Given the description of an element on the screen output the (x, y) to click on. 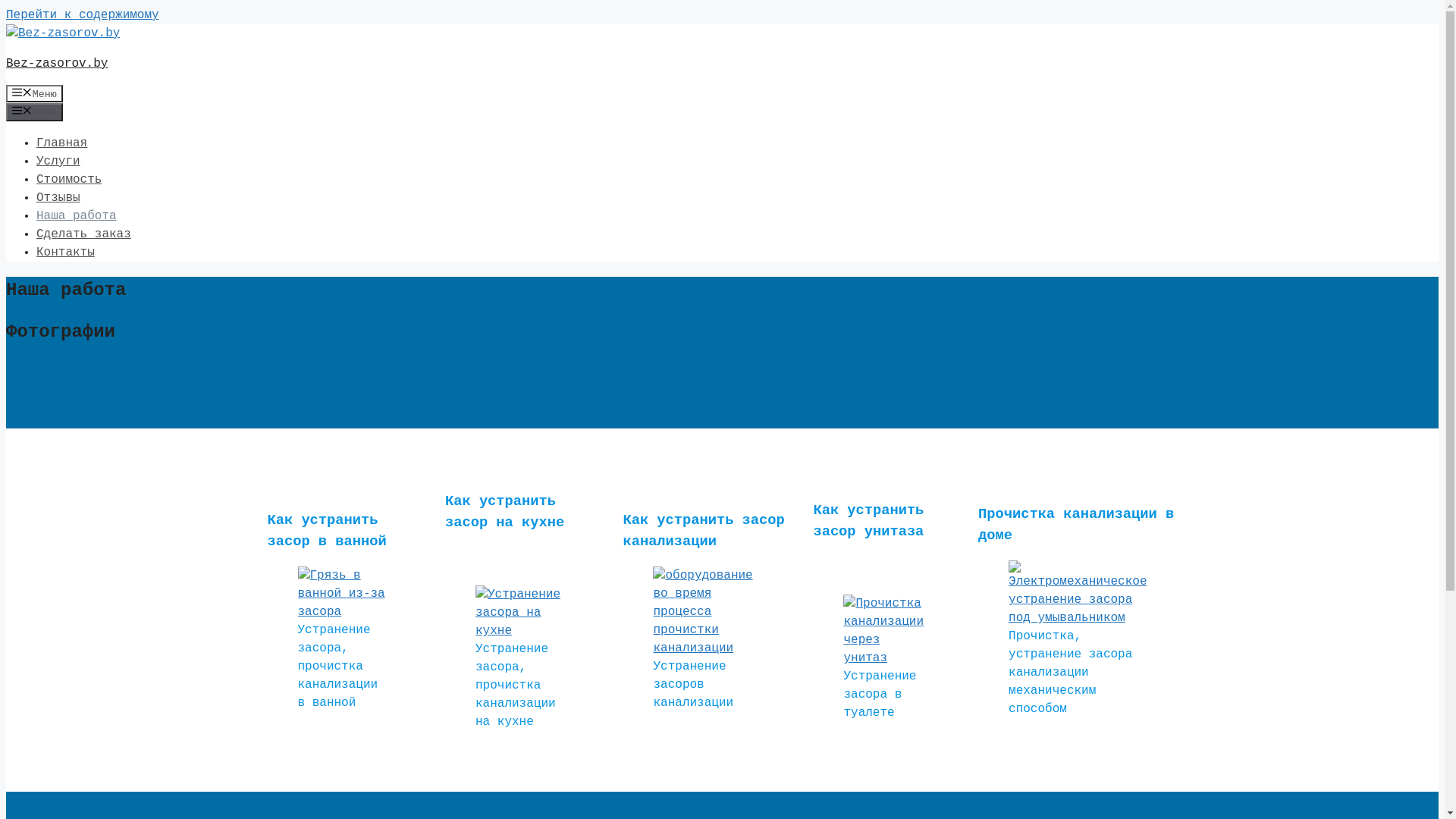
Bez-zasorov.by Element type: text (56, 63)
